Given the description of an element on the screen output the (x, y) to click on. 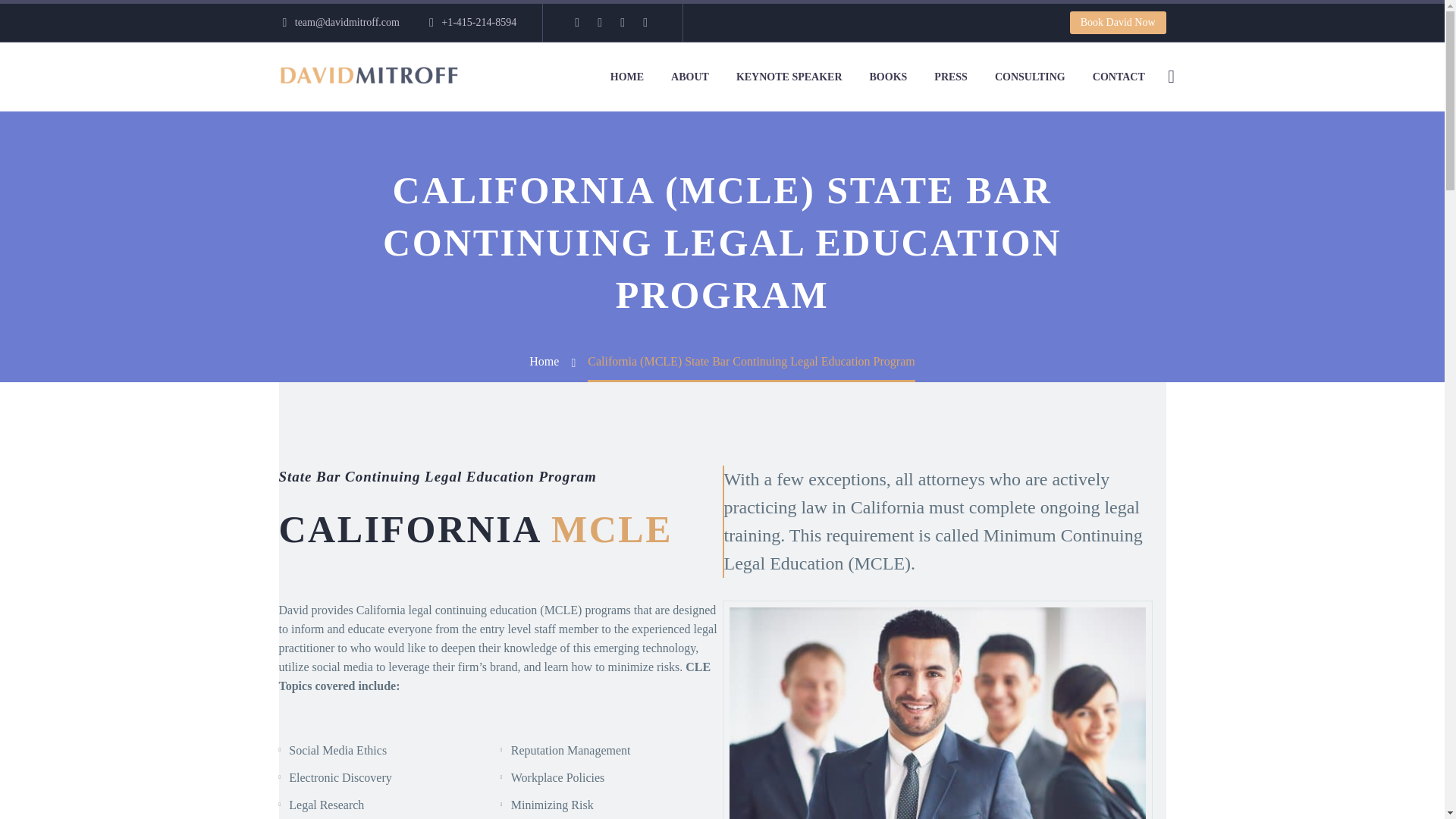
BOOKS (888, 76)
YouTube (644, 22)
s (1323, 157)
HOME (626, 76)
ABOUT (689, 76)
Home (544, 360)
CONTACT (1118, 76)
CONSULTING (1030, 76)
LinkedIn (577, 22)
KEYNOTE SPEAKER (789, 76)
Book David Now (1118, 22)
PRESS (950, 76)
Instagram (599, 22)
Vimeo (622, 22)
